Given the description of an element on the screen output the (x, y) to click on. 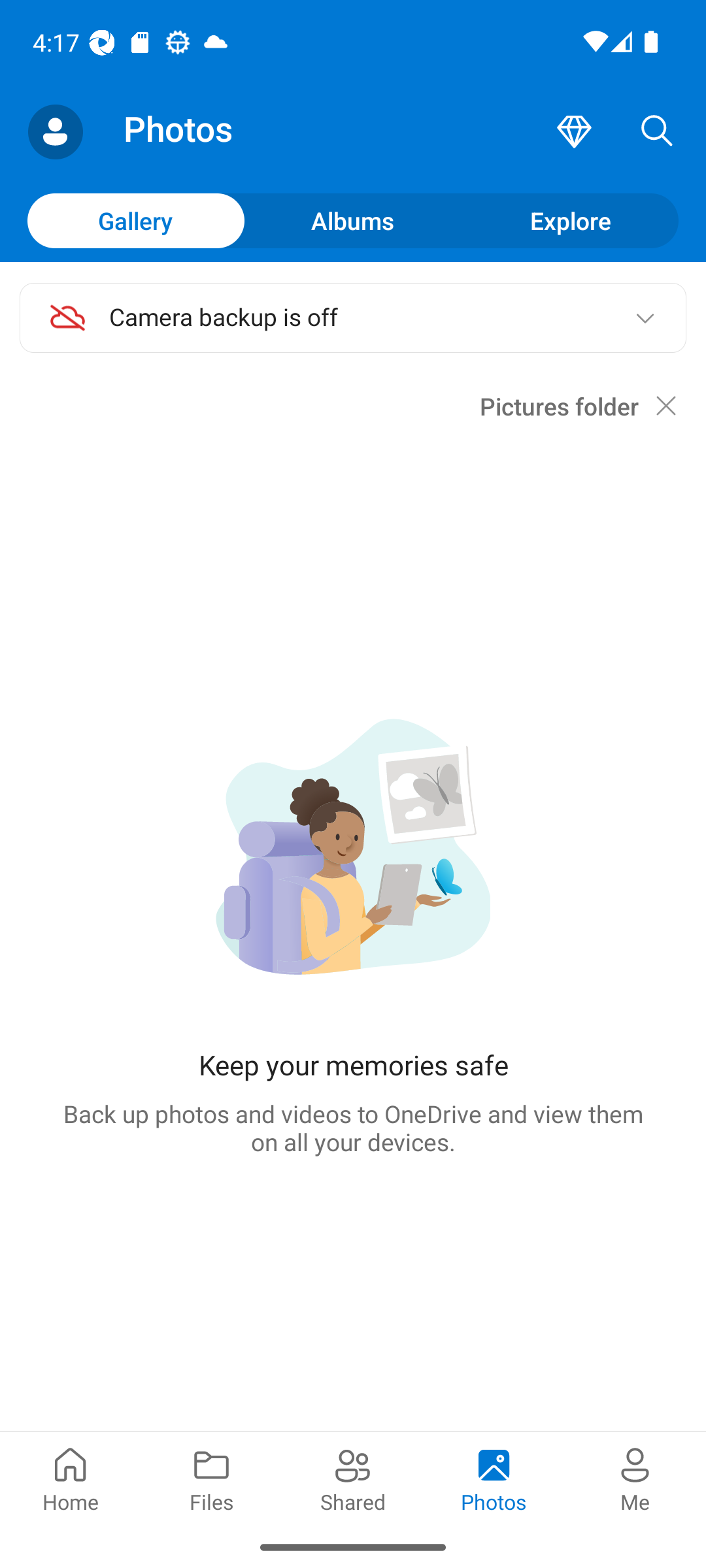
Account switcher (55, 131)
Premium button (574, 131)
Search button (656, 131)
Albums (352, 219)
Explore (569, 219)
Expand camera status banner (645, 318)
Home pivot Home (70, 1478)
Files pivot Files (211, 1478)
Shared pivot Shared (352, 1478)
Me pivot Me (635, 1478)
